Given the description of an element on the screen output the (x, y) to click on. 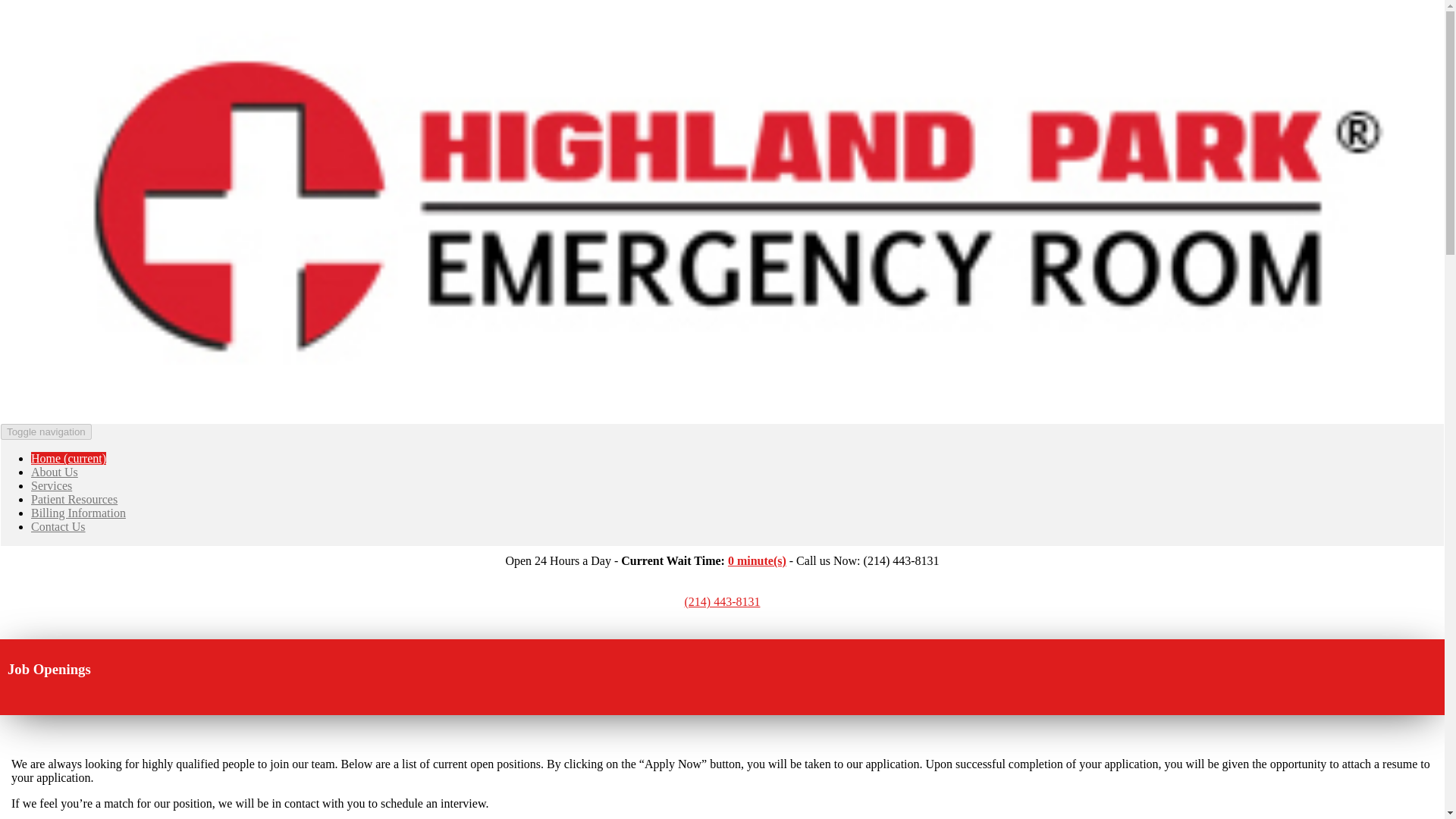
Make a Payment Online (721, 587)
Patient Resources (73, 499)
Services (50, 485)
Billing Information (77, 512)
About Us (54, 472)
Contact Us (57, 526)
Toggle navigation (46, 431)
